Given the description of an element on the screen output the (x, y) to click on. 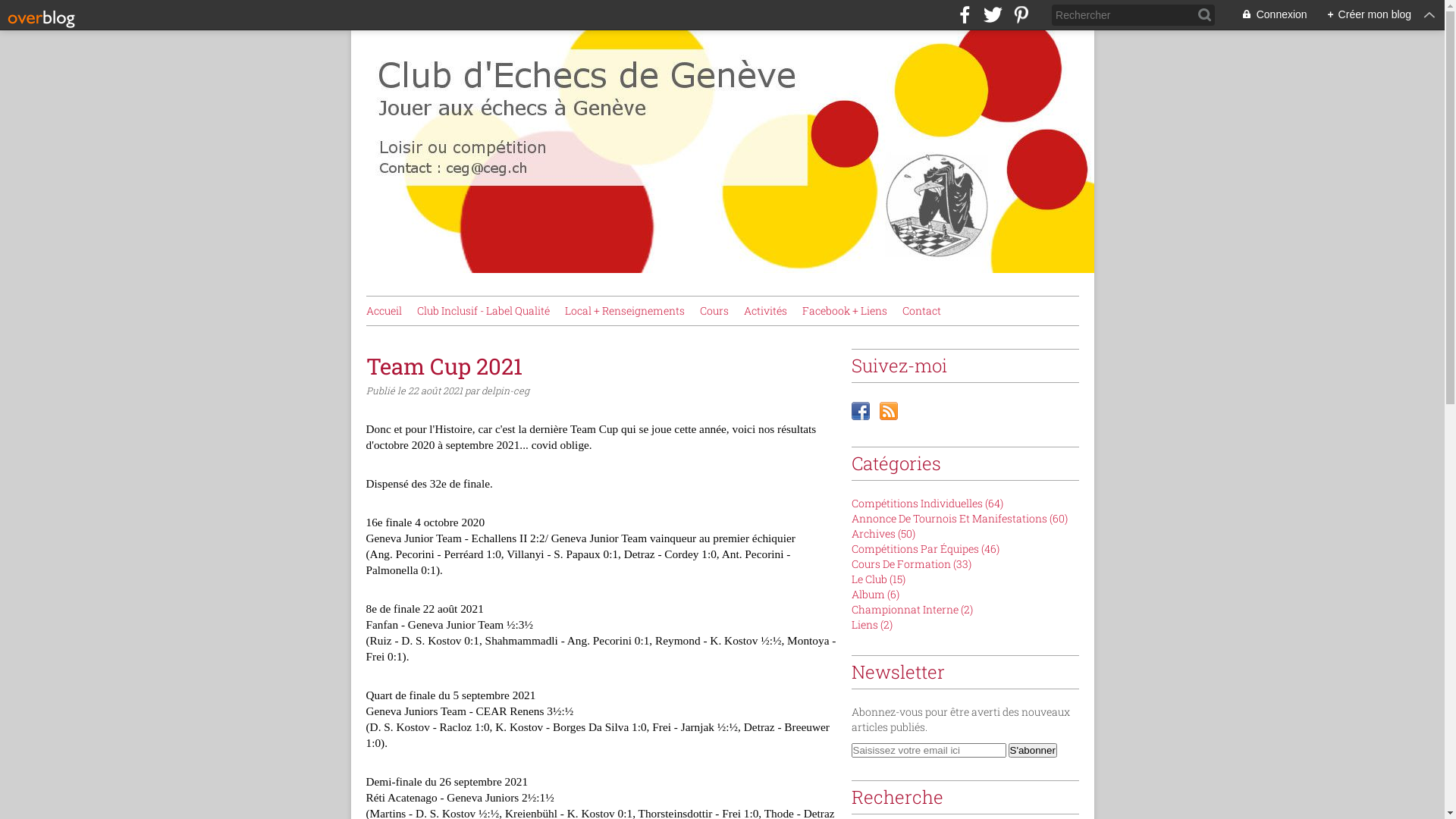
RSS Element type: text (888, 410)
Album (6) Element type: text (874, 593)
 pinterest Element type: hover (1020, 14)
 facebook Element type: hover (964, 14)
Cours De Formation (33) Element type: text (910, 563)
Facebook Element type: text (859, 410)
Cours Element type: text (713, 310)
Liens (2) Element type: text (870, 624)
S'abonner Element type: text (1032, 750)
Local + Renseignements Element type: text (624, 310)
Contact Element type: text (921, 310)
Facebook + Liens Element type: text (844, 310)
Championnat Interne (2) Element type: text (911, 609)
Le Club (15) Element type: text (877, 578)
Archives (50) Element type: text (882, 533)
 twitter Element type: hover (992, 14)
Accueil Element type: text (383, 310)
Annonce De Tournois Et Manifestations (60) Element type: text (958, 518)
Connexion Element type: text (1266, 14)
